Given the description of an element on the screen output the (x, y) to click on. 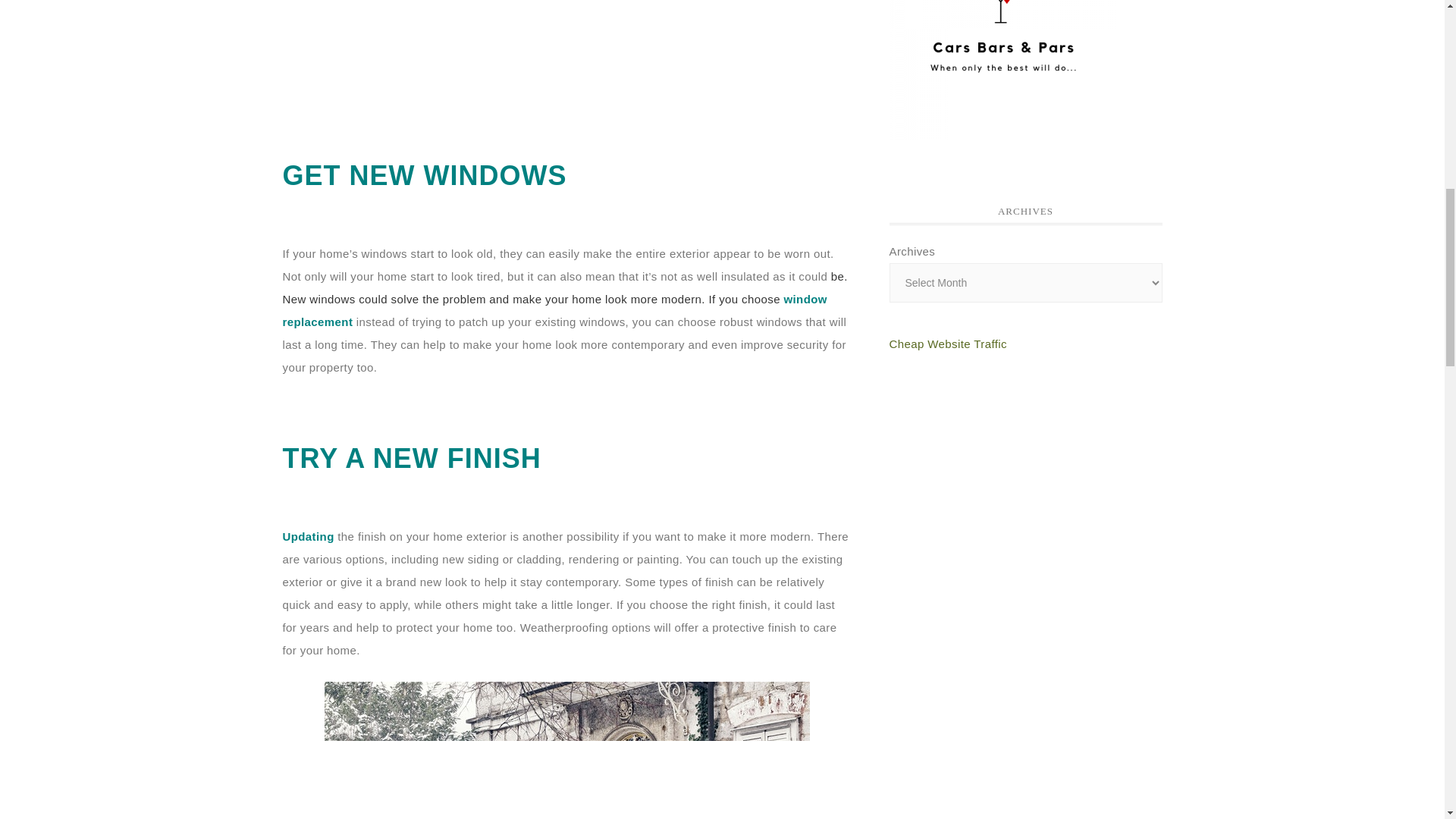
window replacement (554, 310)
Updating (307, 535)
Cheap Website Traffic (947, 343)
